Given the description of an element on the screen output the (x, y) to click on. 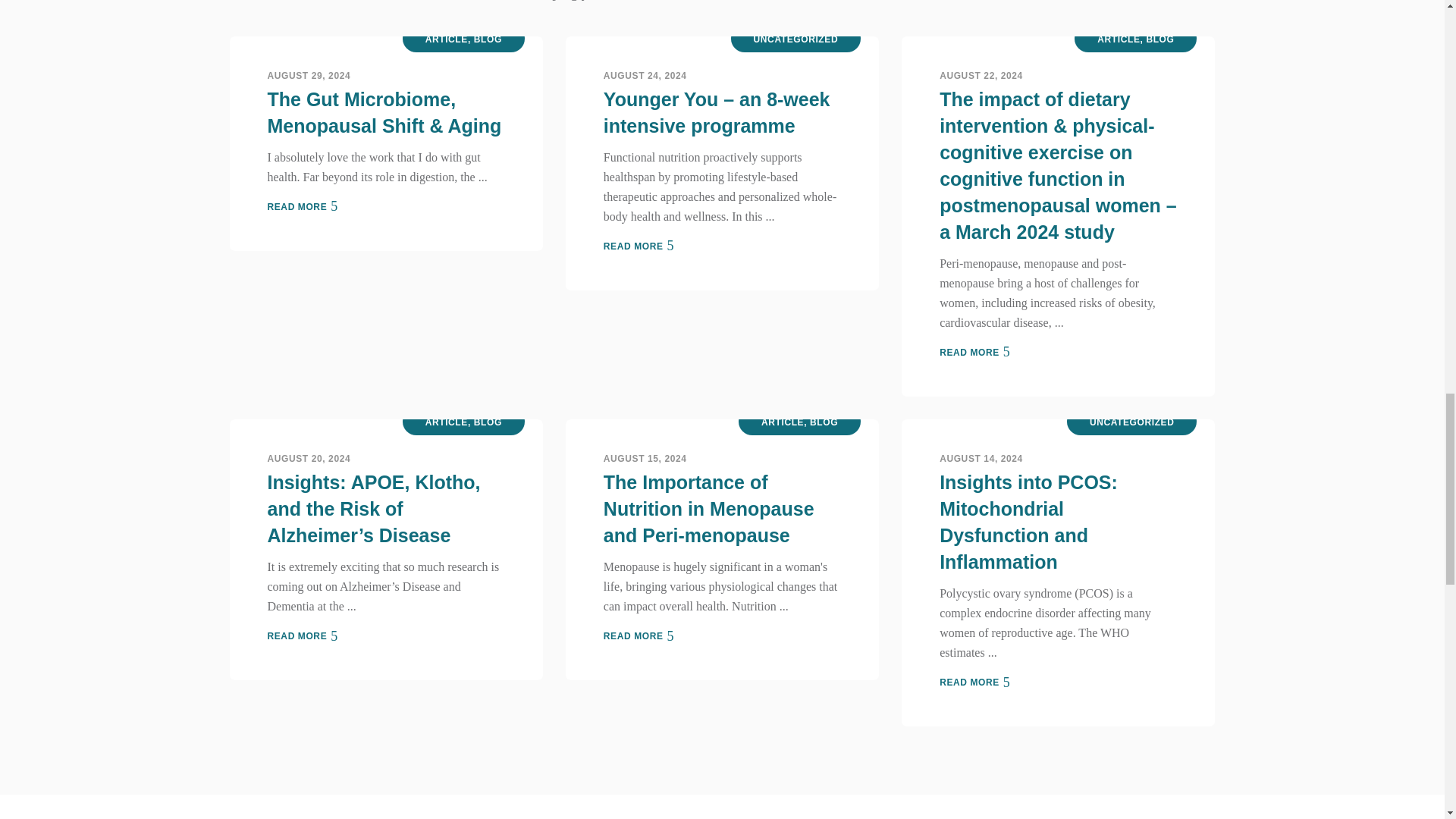
The Importance of Nutrition in Menopause and Peri-menopause (708, 508)
UNCATEGORIZED (796, 39)
AUGUST 22, 2024 (981, 75)
BLOG (488, 39)
ARTICLE (446, 39)
READ MORE (301, 206)
READ MORE (639, 245)
ARTICLE (1118, 39)
AUGUST 29, 2024 (308, 75)
